Given the description of an element on the screen output the (x, y) to click on. 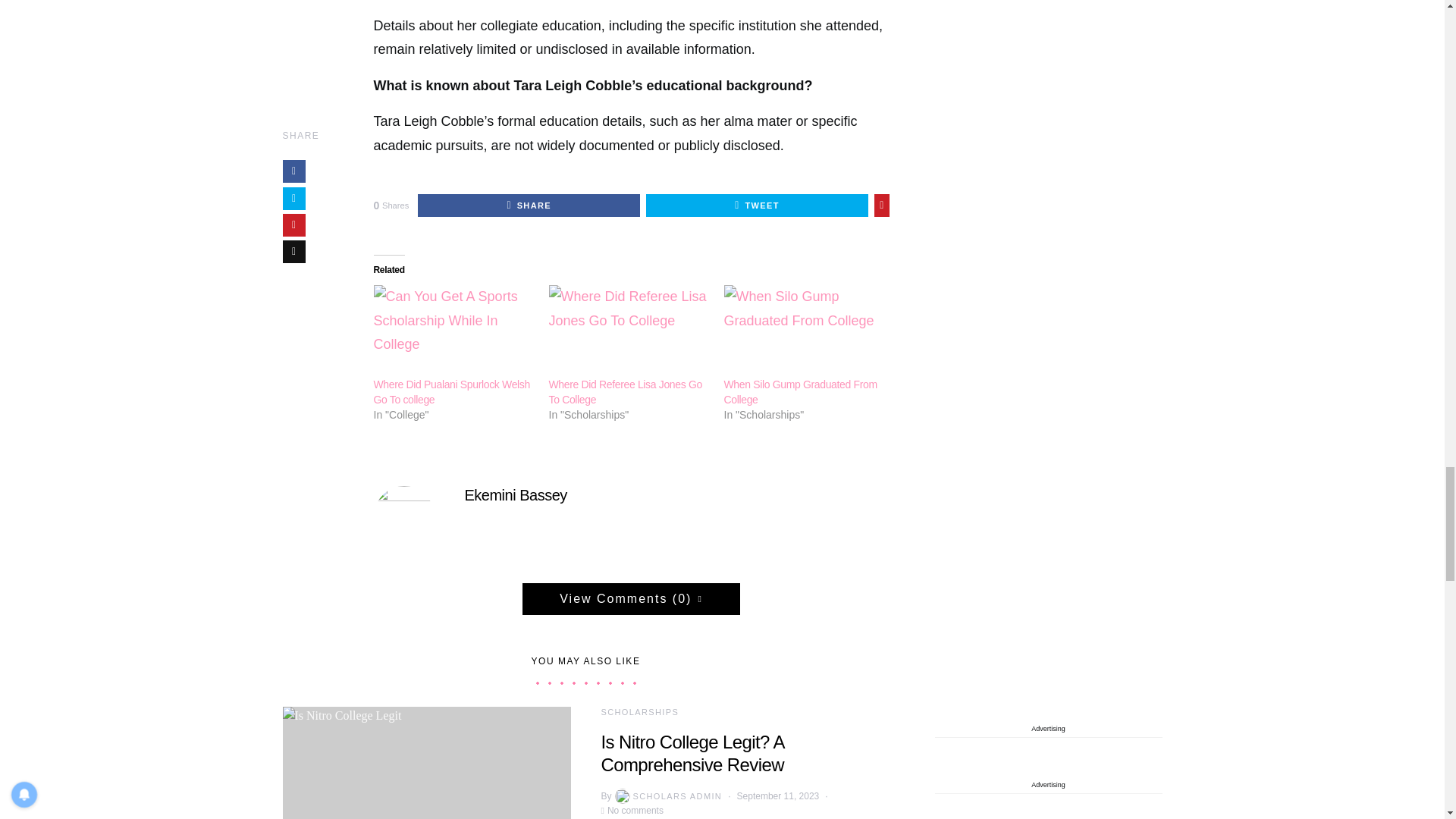
When Silo Gump Graduated From College (799, 391)
Where Did Pualani Spurlock Welsh Go To college (452, 330)
Where Did Referee Lisa Jones Go To College (624, 391)
View all posts by Scholars Admin (666, 795)
When Silo Gump Graduated From College (803, 330)
Where Did Referee Lisa Jones Go To College (628, 330)
Where Did Pualani Spurlock Welsh Go To college (450, 391)
